Given the description of an element on the screen output the (x, y) to click on. 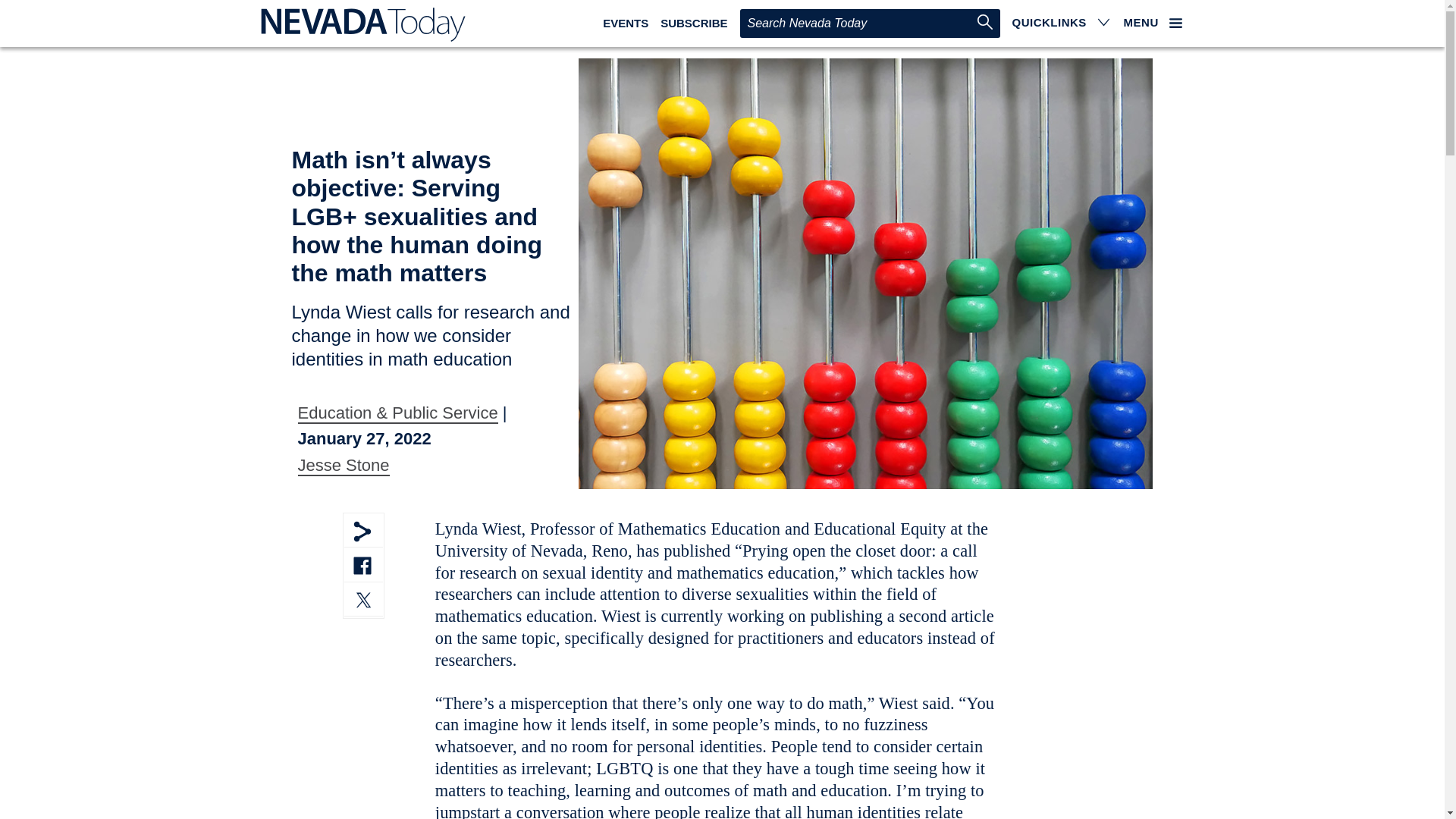
SUBSCRIBE (693, 23)
Homepage (359, 24)
EVENTS (624, 23)
